Given the description of an element on the screen output the (x, y) to click on. 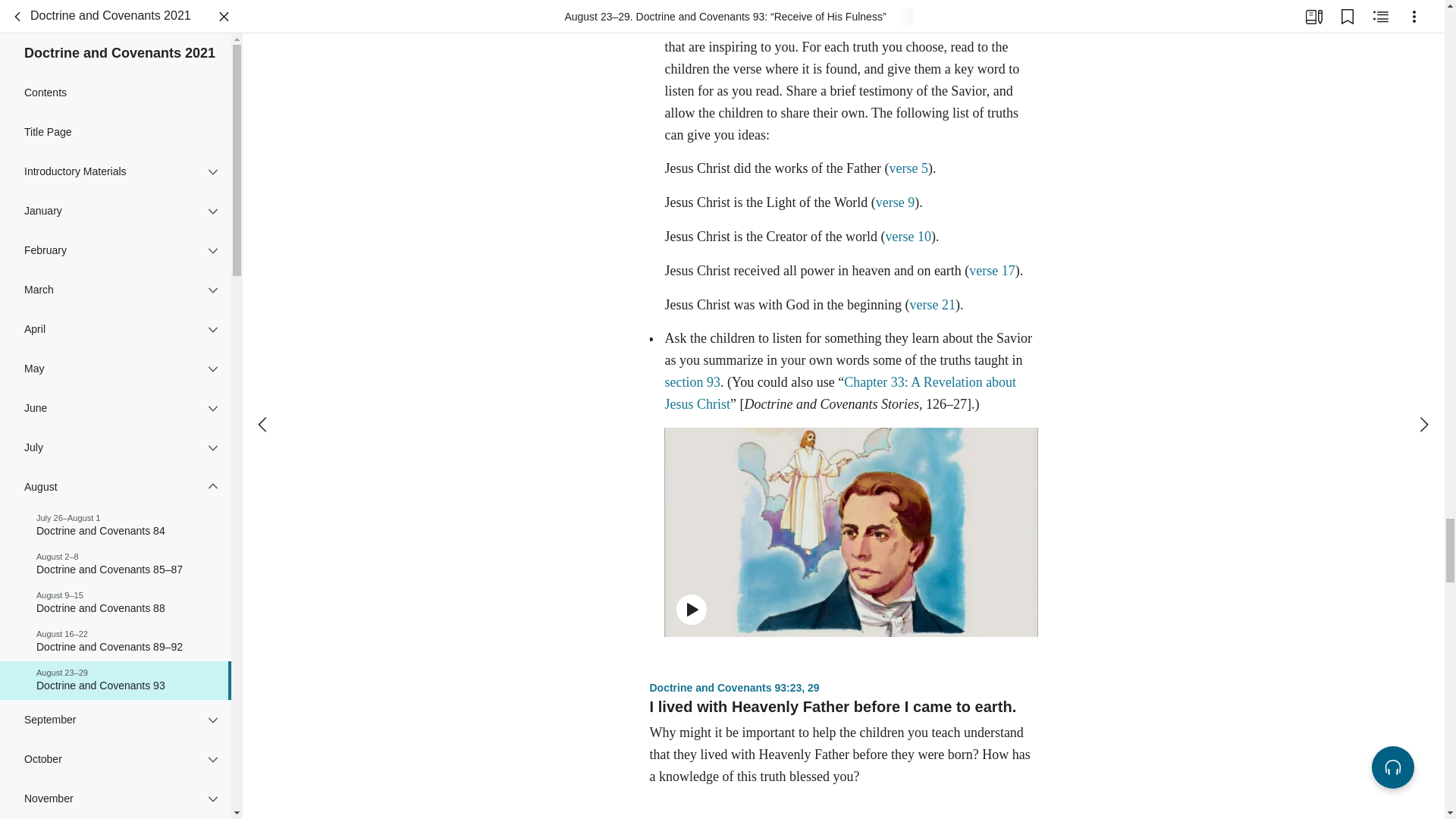
verse 9 (895, 201)
verse 17 (991, 270)
verse 21 (931, 304)
verse 5 (907, 168)
Doctrine and Covenants 93:23, 29 (733, 687)
section 93 (691, 381)
section 93 (987, 25)
verse 10 (907, 236)
Chapter 33: A Revelation about Jesus Christ (839, 392)
